Given the description of an element on the screen output the (x, y) to click on. 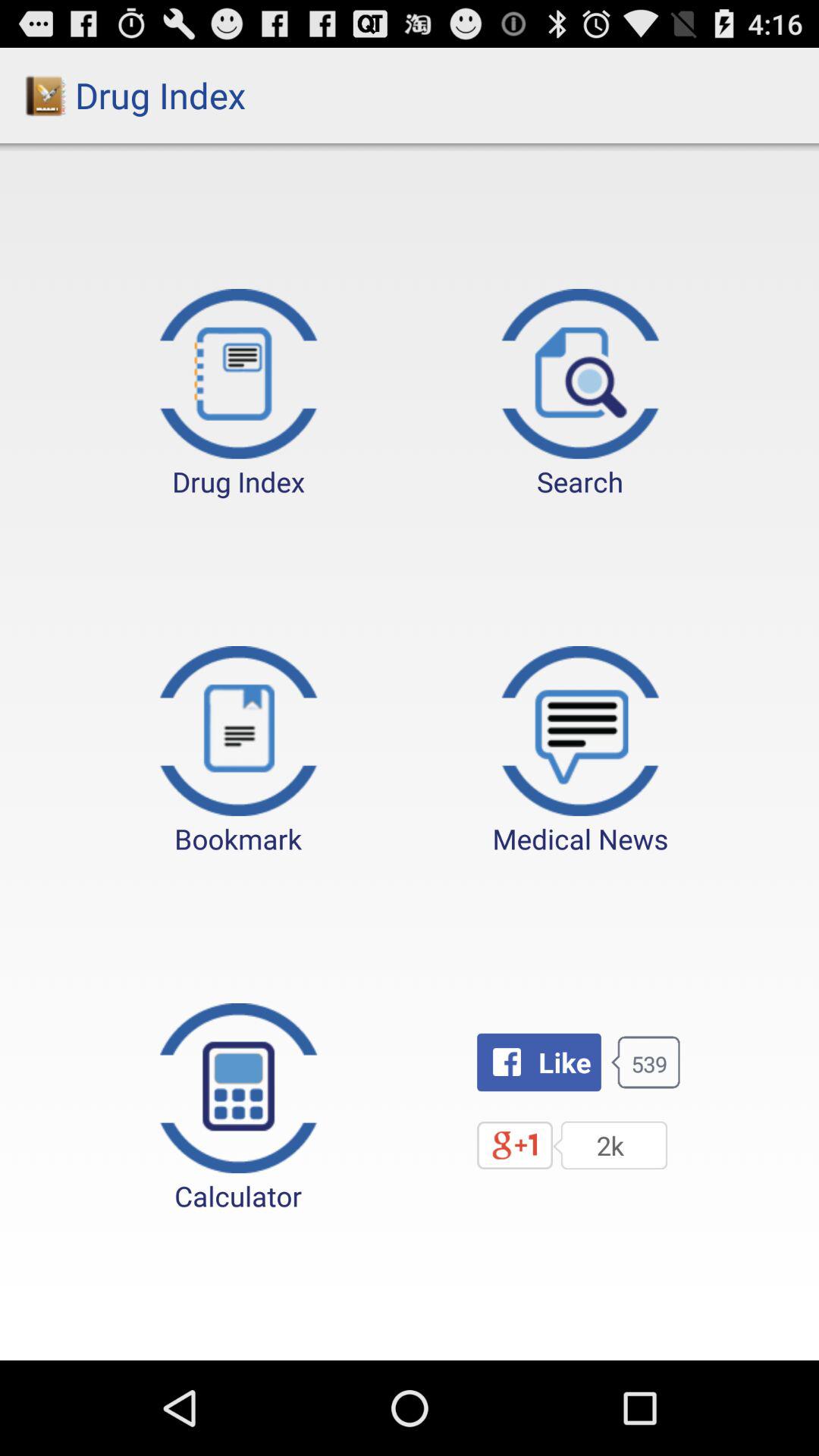
choose the icon above the medical news (580, 394)
